Given the description of an element on the screen output the (x, y) to click on. 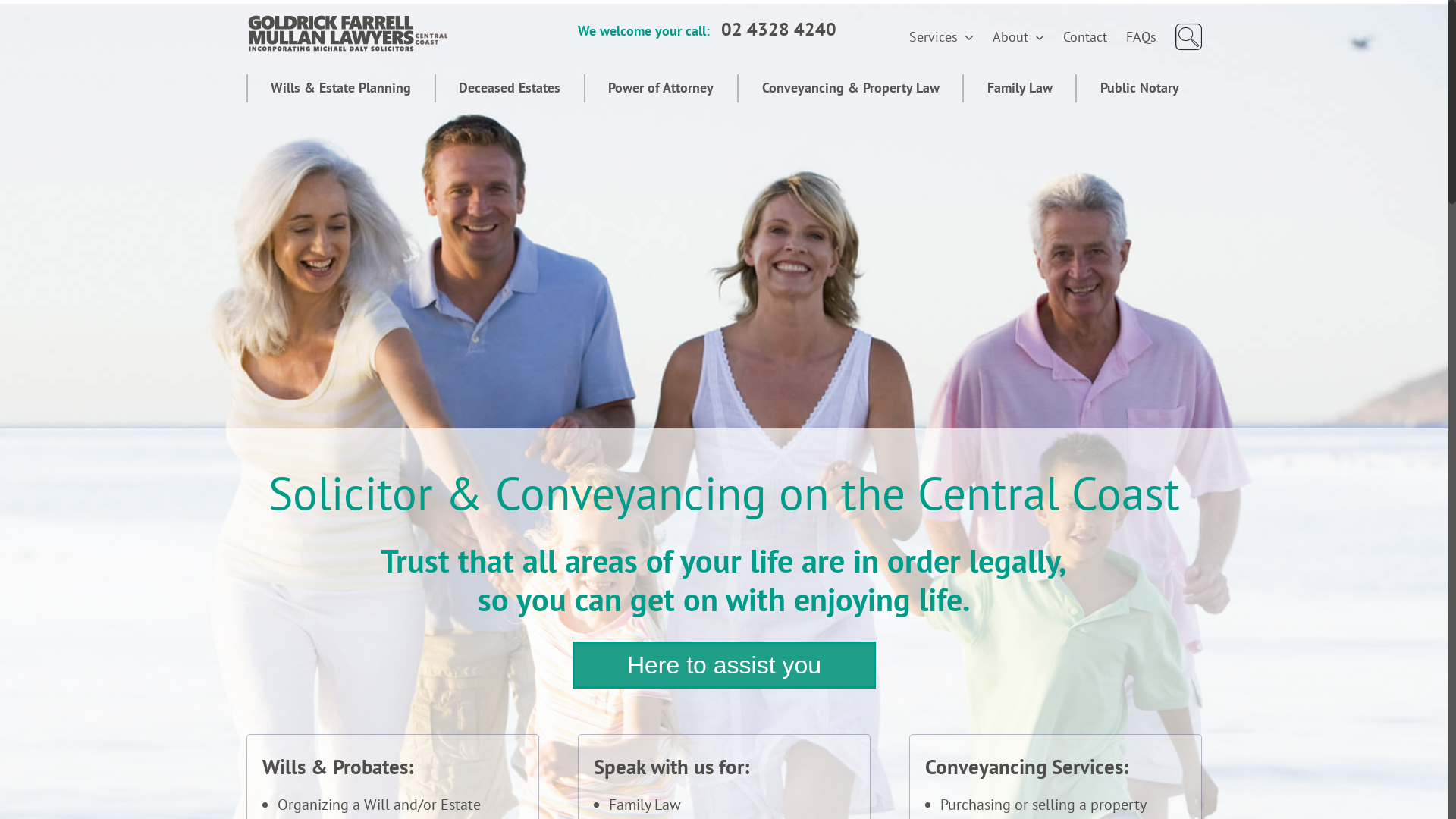
Services Element type: text (941, 37)
Contact Element type: text (1085, 37)
Deceased Estates Element type: text (508, 88)
About Element type: text (1018, 37)
Family Law Element type: text (1018, 88)
Wills & Estate Planning Element type: text (340, 88)
Here to assist you Element type: text (723, 664)
Power of Attorney Element type: text (660, 88)
FAQs Element type: text (1141, 37)
Public Notary Element type: text (1138, 88)
02 4328 4240 Element type: text (778, 28)
Conveyancing & Property Law Element type: text (849, 88)
Search Element type: hover (1188, 36)
